Given the description of an element on the screen output the (x, y) to click on. 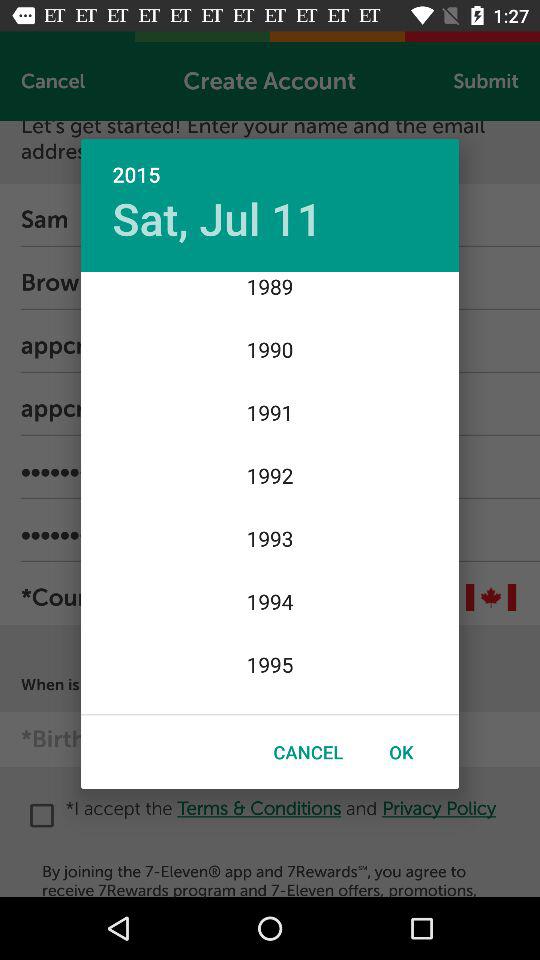
open icon above the 1989 icon (217, 218)
